Given the description of an element on the screen output the (x, y) to click on. 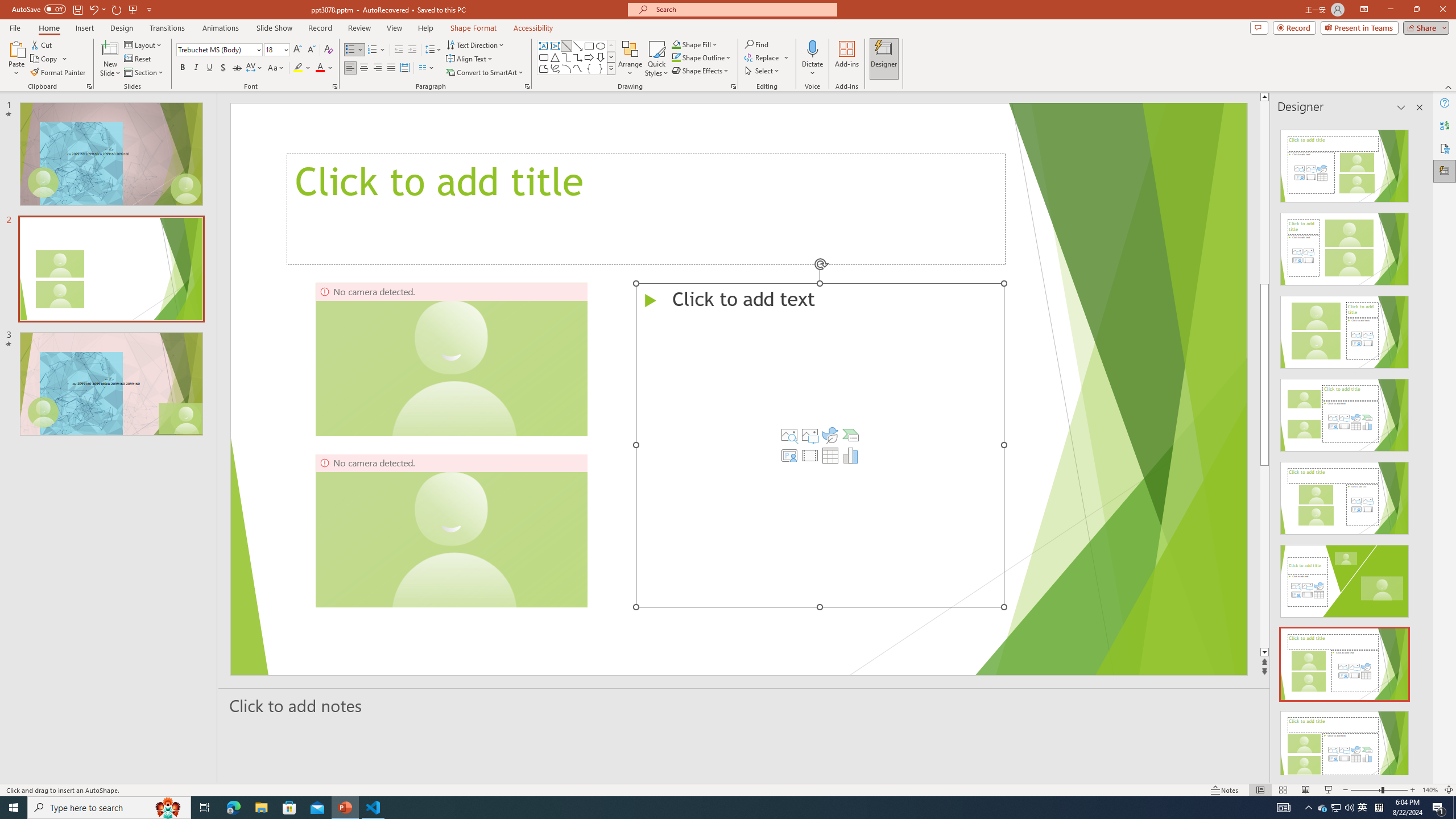
Columns (426, 67)
Shape Effects (700, 69)
Text Highlight Color Yellow (297, 67)
Insert Video (809, 455)
Vertical Text Box (554, 45)
Translator (1444, 125)
Zoom 140% (1430, 790)
Shape Outline Green, Accent 1 (675, 56)
